Given the description of an element on the screen output the (x, y) to click on. 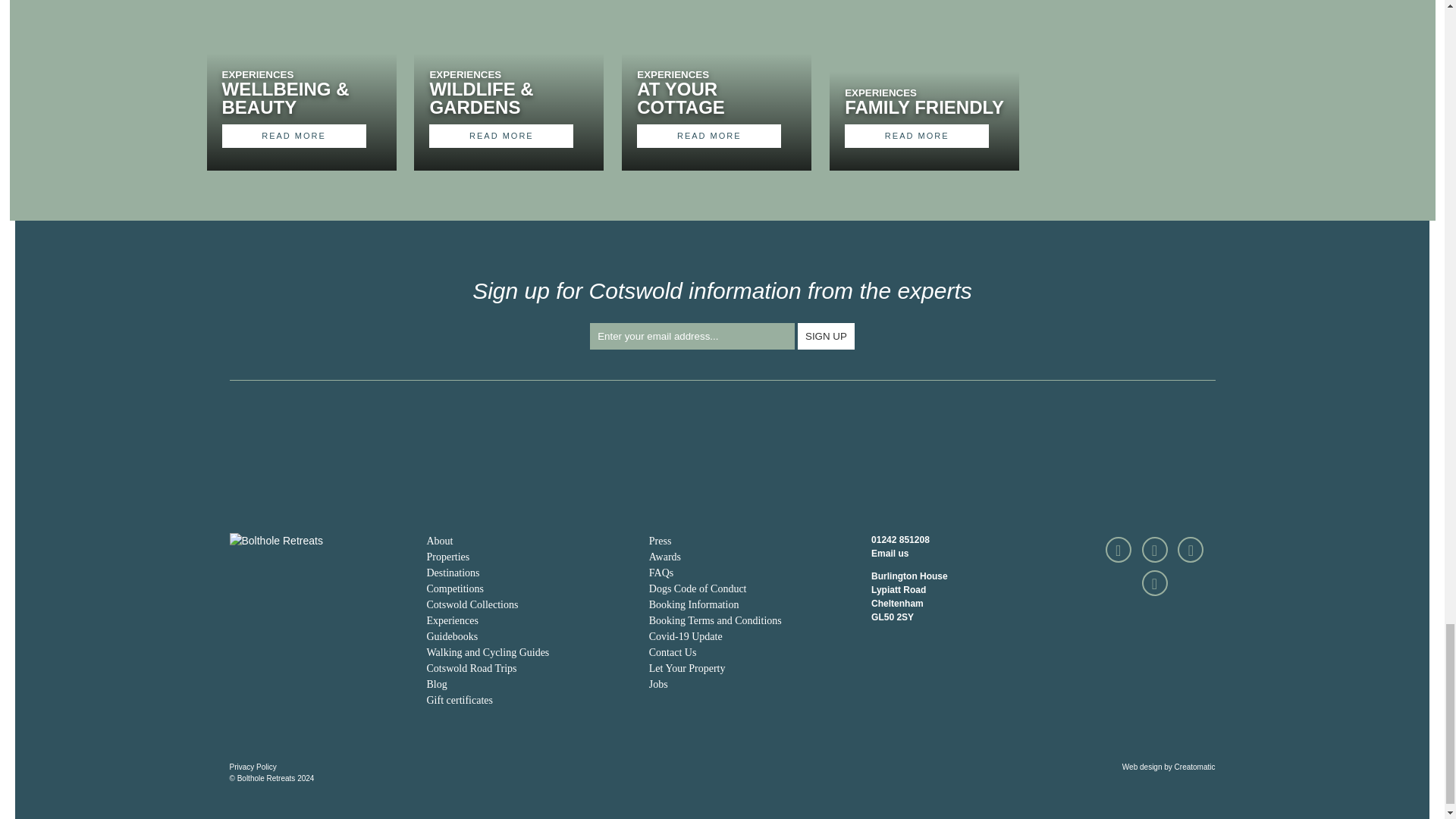
Sign Up (825, 335)
Creatomatic (1194, 766)
Bolthole Retreats (274, 540)
